Given the description of an element on the screen output the (x, y) to click on. 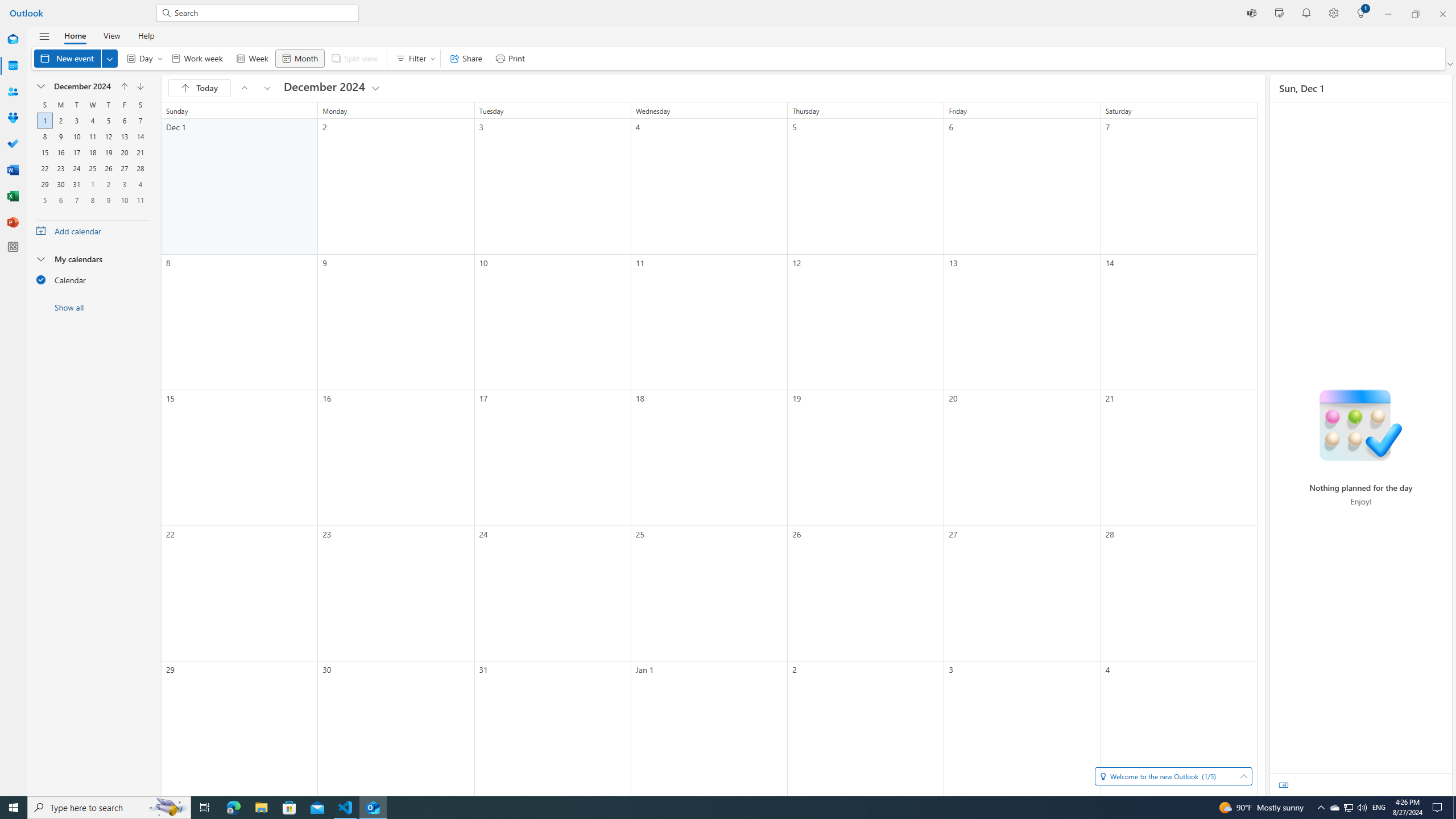
Go to today August 27, 2024 (199, 88)
Date selector (41, 86)
Ribbon display options (1450, 63)
View (111, 35)
Show all (92, 306)
My calendars (92, 258)
11, January, 2025 (140, 200)
8, January, 2025 (92, 200)
19, December, 2024 (108, 152)
To Do (12, 143)
People (12, 92)
10, January, 2025 (124, 200)
Outlook (new) - 1 running window (373, 807)
11, January, 2025 (140, 200)
Friday (124, 104)
